Given the description of an element on the screen output the (x, y) to click on. 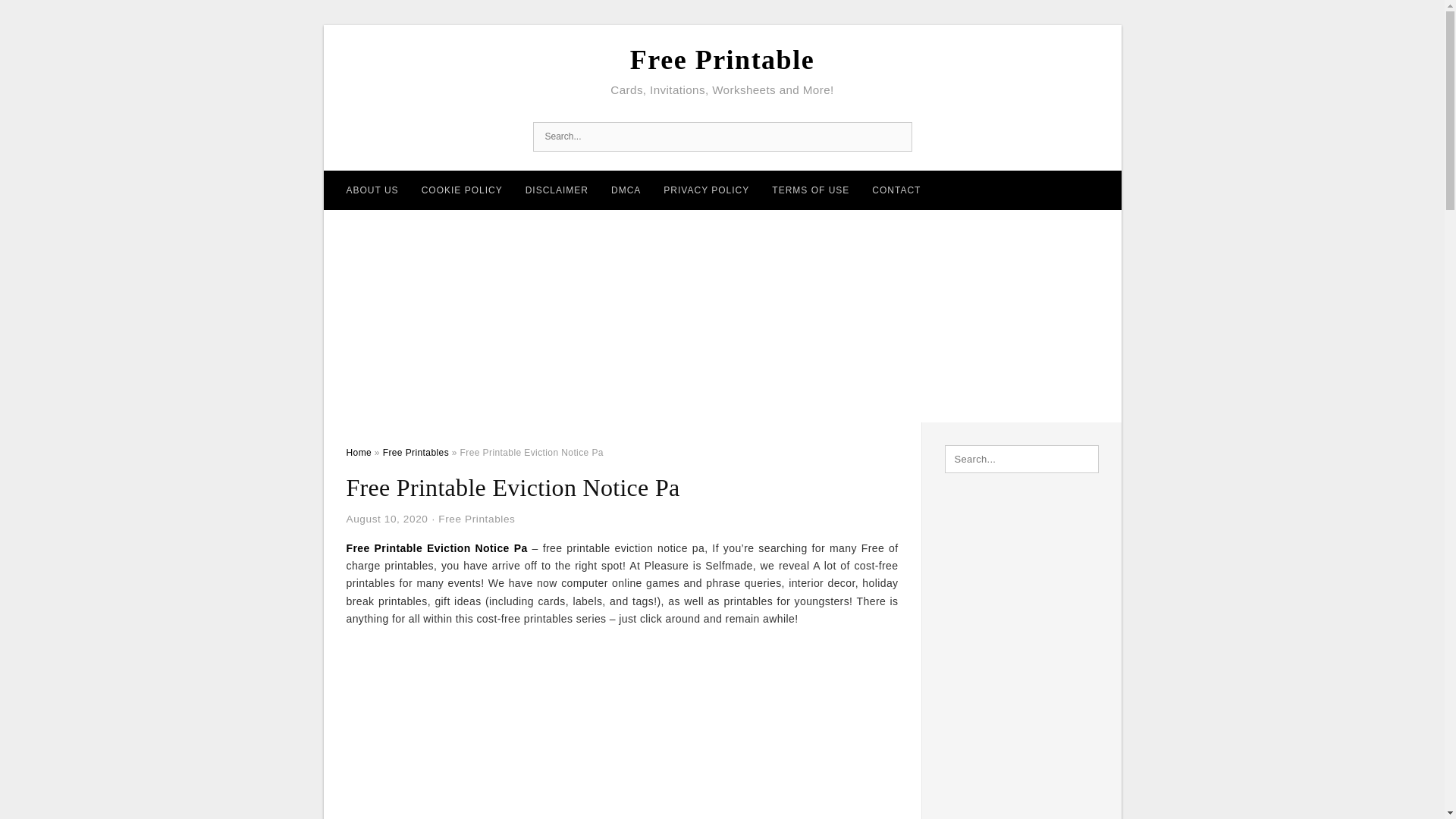
Free Printable Eviction Notice Pa (436, 548)
TERMS OF USE (810, 189)
DMCA (625, 189)
Search (895, 137)
Free Printables (415, 452)
Search (895, 137)
Search for: (721, 136)
Search (43, 15)
DISCLAIMER (556, 189)
CONTACT (895, 189)
ABOUT US (372, 189)
Free Printable (721, 60)
PRIVACY POLICY (706, 189)
Search for: (1021, 459)
